Given the description of an element on the screen output the (x, y) to click on. 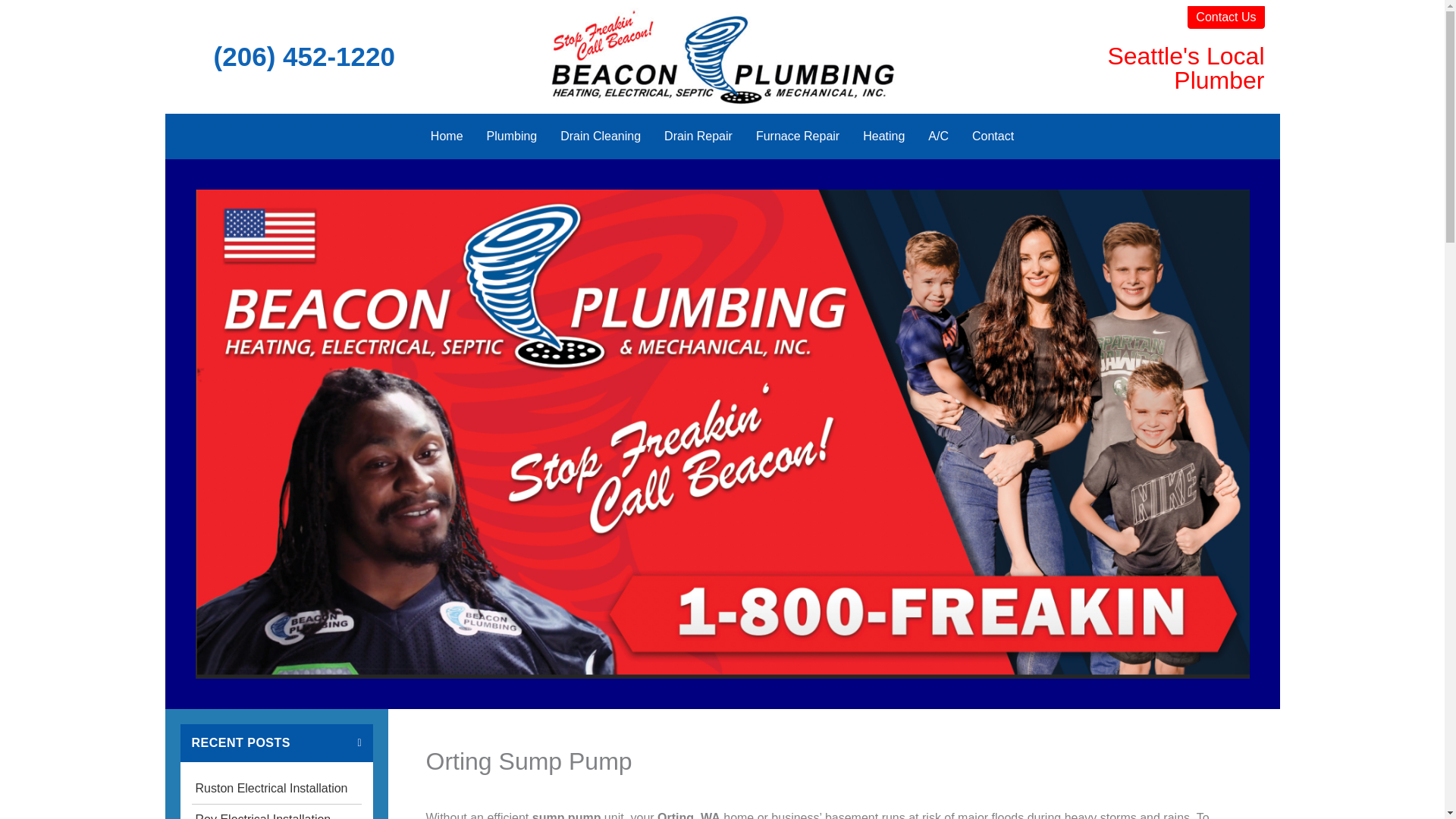
Contact (992, 135)
Drain Cleaning (600, 135)
Seattle Plumbing (722, 56)
Ruston Electrical Installation (275, 788)
Roy Electrical Installation (275, 811)
Roy Electrical Installation (275, 811)
Plumbing (512, 135)
Furnace Repair (797, 135)
Contact Us (1225, 16)
Home (446, 135)
Ruston Electrical Installation (275, 788)
Heating (883, 135)
Drain Repair (698, 135)
